Given the description of an element on the screen output the (x, y) to click on. 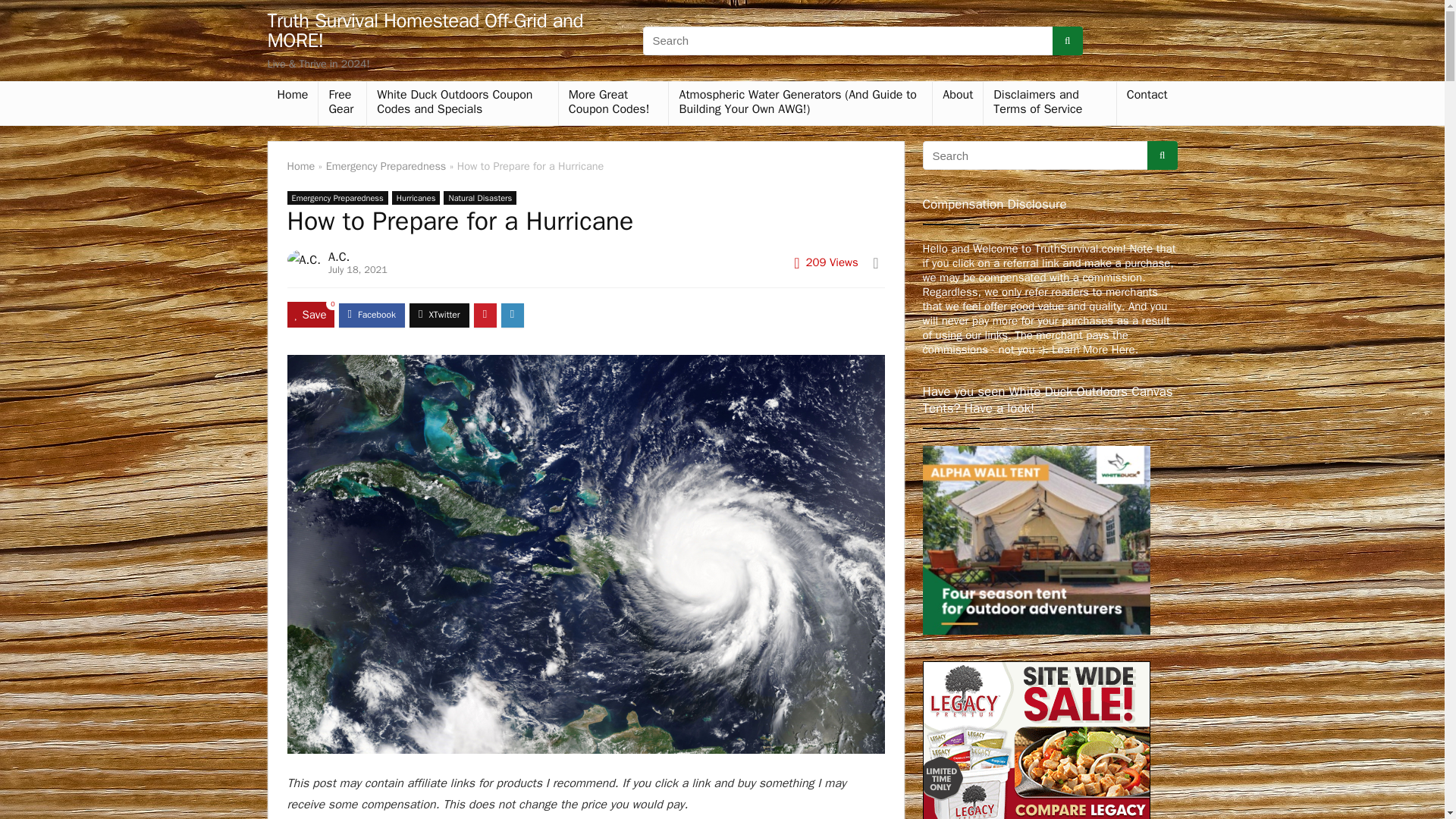
White Duck Outdoors Coupon Codes and Specials (461, 103)
Home (300, 165)
About (957, 95)
More Great Coupon Codes! (613, 103)
Natural Disasters (480, 197)
View all posts in Natural Disasters (480, 197)
Free Gear (342, 103)
Disclaimers and Terms of Service (1050, 103)
Home (291, 95)
Contact (1146, 95)
